Given the description of an element on the screen output the (x, y) to click on. 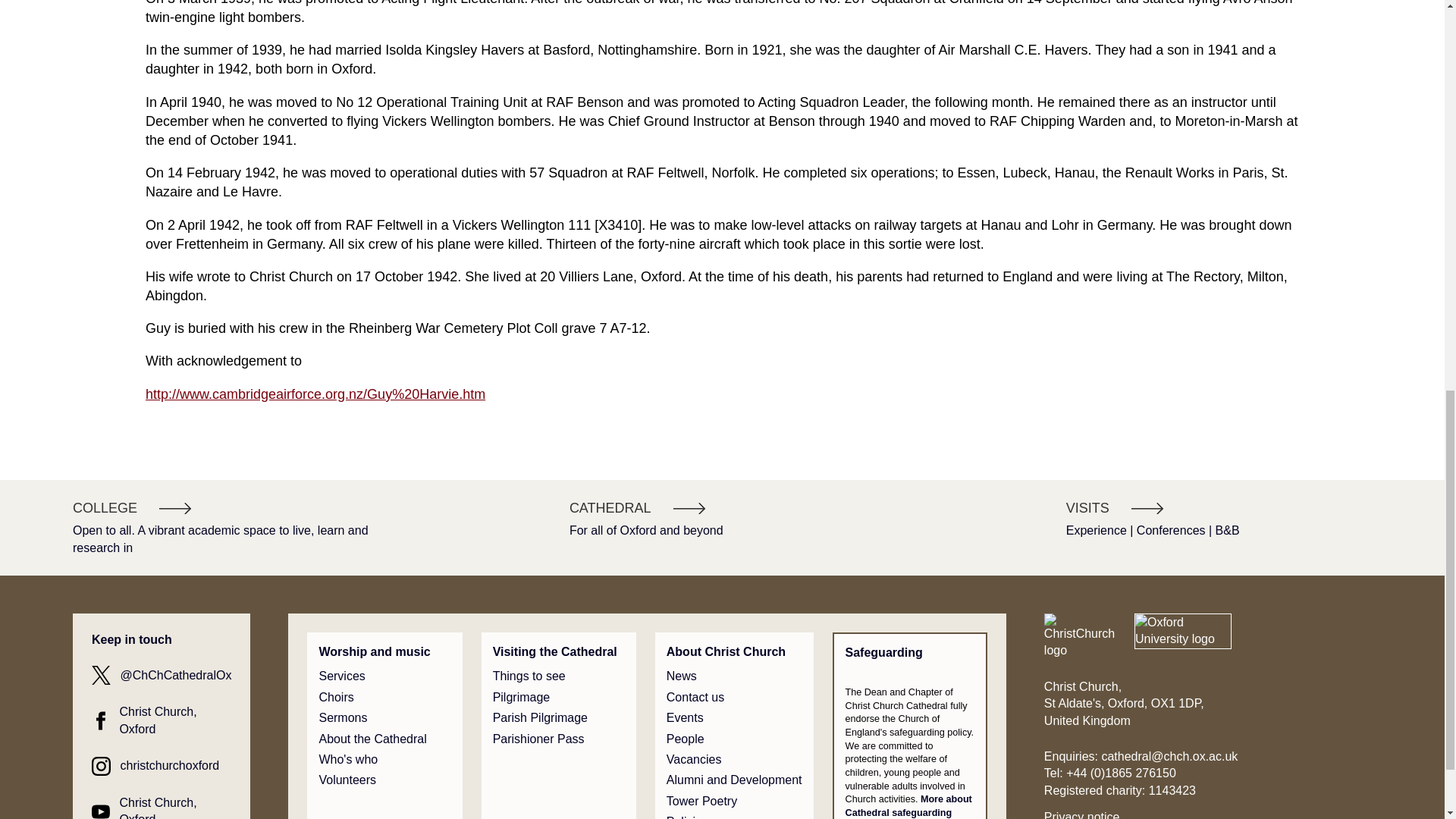
 Services at the Cathedral (341, 676)
Visiting the cathedral (529, 676)
Worshipping at Christ Church Cathedral (373, 651)
Visiting the cathedral (555, 651)
Choirs and music at the Cathedral (335, 697)
Job vacancies (694, 759)
